Given the description of an element on the screen output the (x, y) to click on. 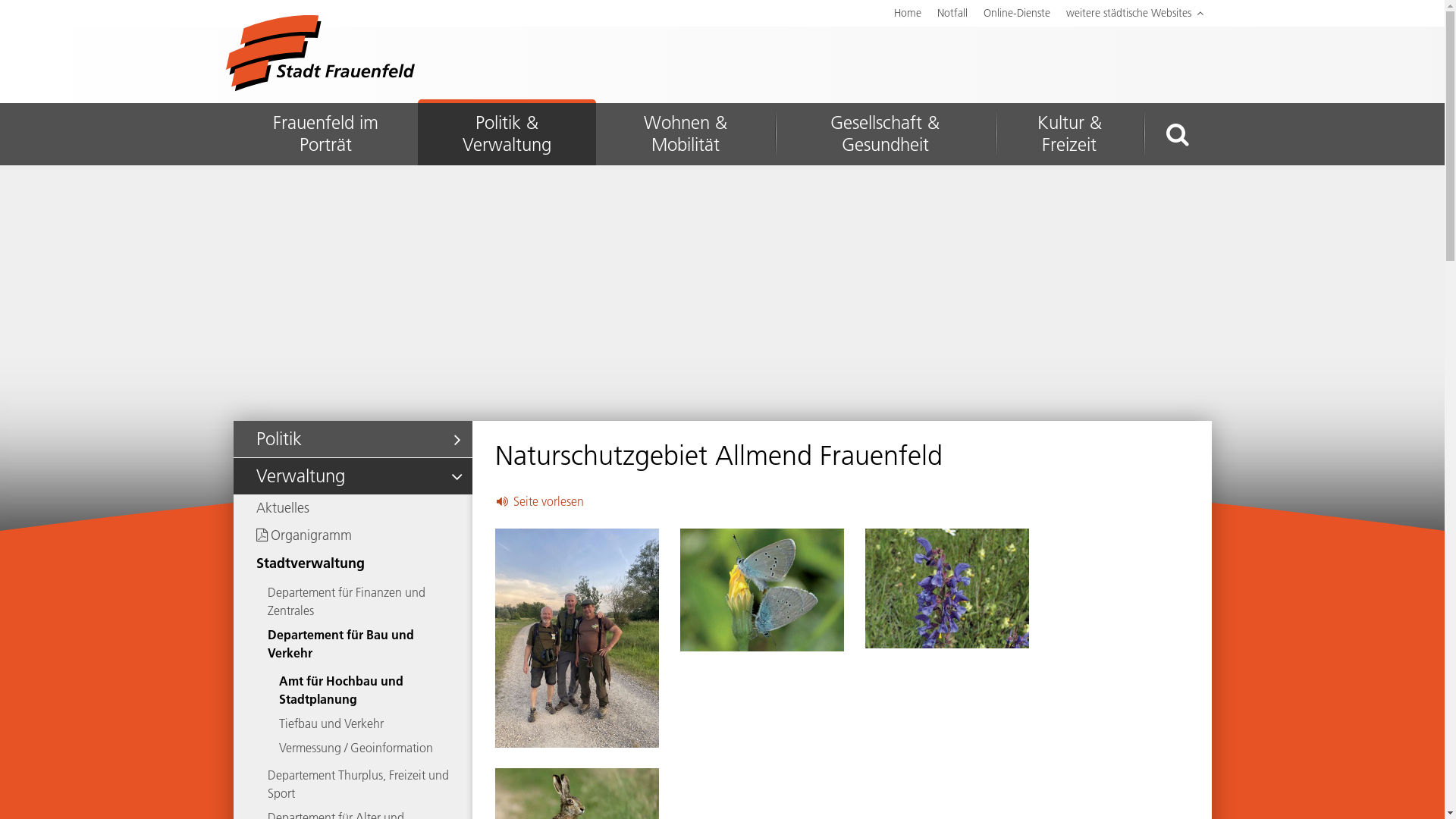
Online-Dienste Element type: text (1016, 13)
Notfall Element type: text (952, 13)
zur Homepage Element type: hover (319, 53)
Politik & Verwaltung Element type: text (506, 134)
Tiefbau und Verkehr Element type: text (352, 723)
Seite vorlesen Element type: text (538, 500)
Kultur & Freizeit Element type: text (1068, 134)
Stadtverwaltung Element type: text (352, 562)
Verwaltung Element type: text (352, 476)
Departement Thurplus, Freizeit und Sport Element type: text (352, 783)
Politik Element type: text (352, 438)
Home Element type: text (906, 13)
Gesellschaft & Gesundheit Element type: text (884, 134)
Aktuelles Element type: text (352, 507)
Vermessung / Geoinformation Element type: text (352, 747)
Organigramm Element type: text (352, 535)
